Given the description of an element on the screen output the (x, y) to click on. 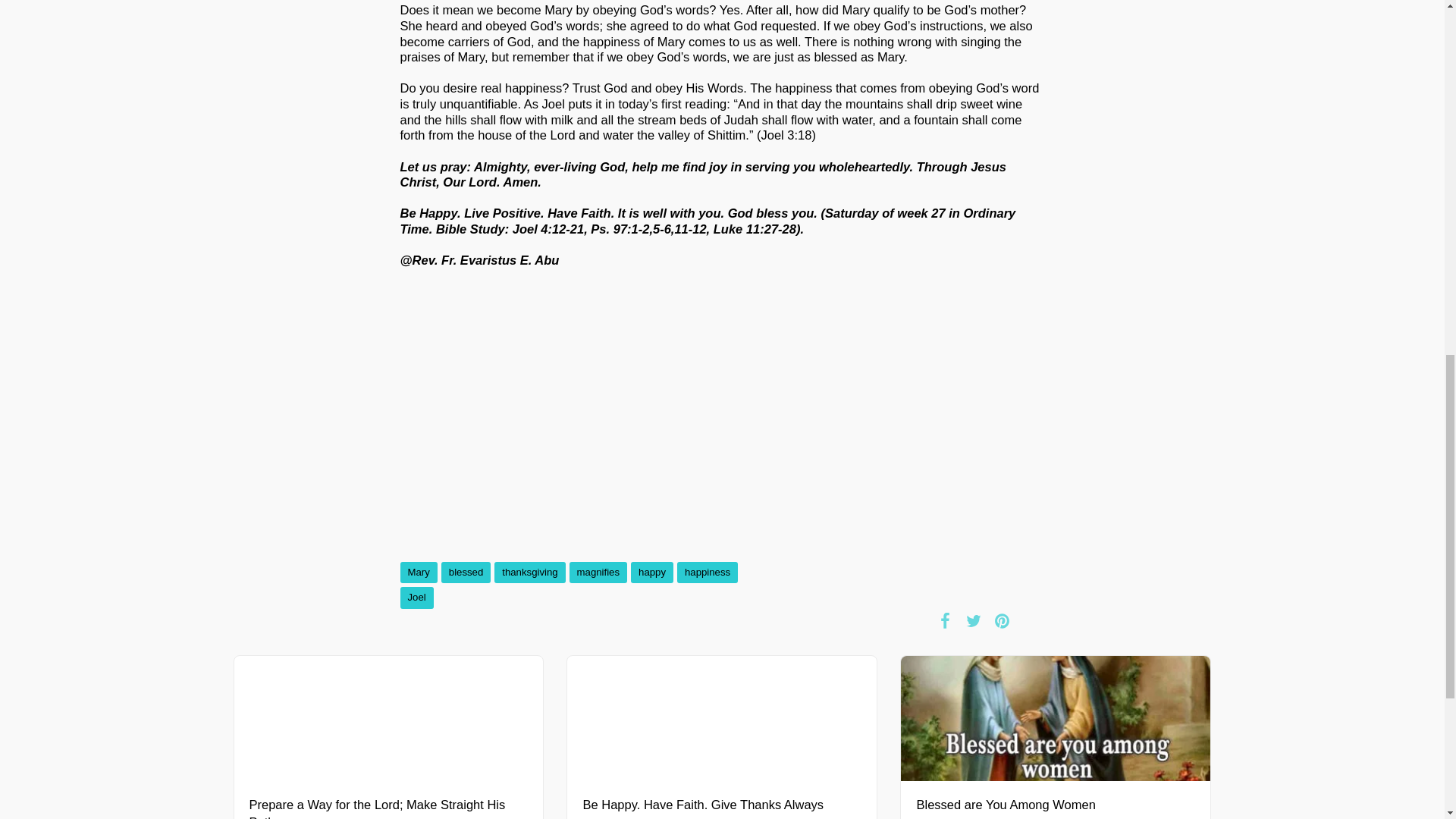
RSS (1029, 619)
Joel (416, 598)
happiness (707, 572)
Tweet (973, 619)
thanksgiving (529, 572)
Pin it (1002, 619)
Mary (419, 572)
magnifies (598, 572)
happy (651, 572)
blessed (465, 572)
Share on Facebook (945, 619)
